Given the description of an element on the screen output the (x, y) to click on. 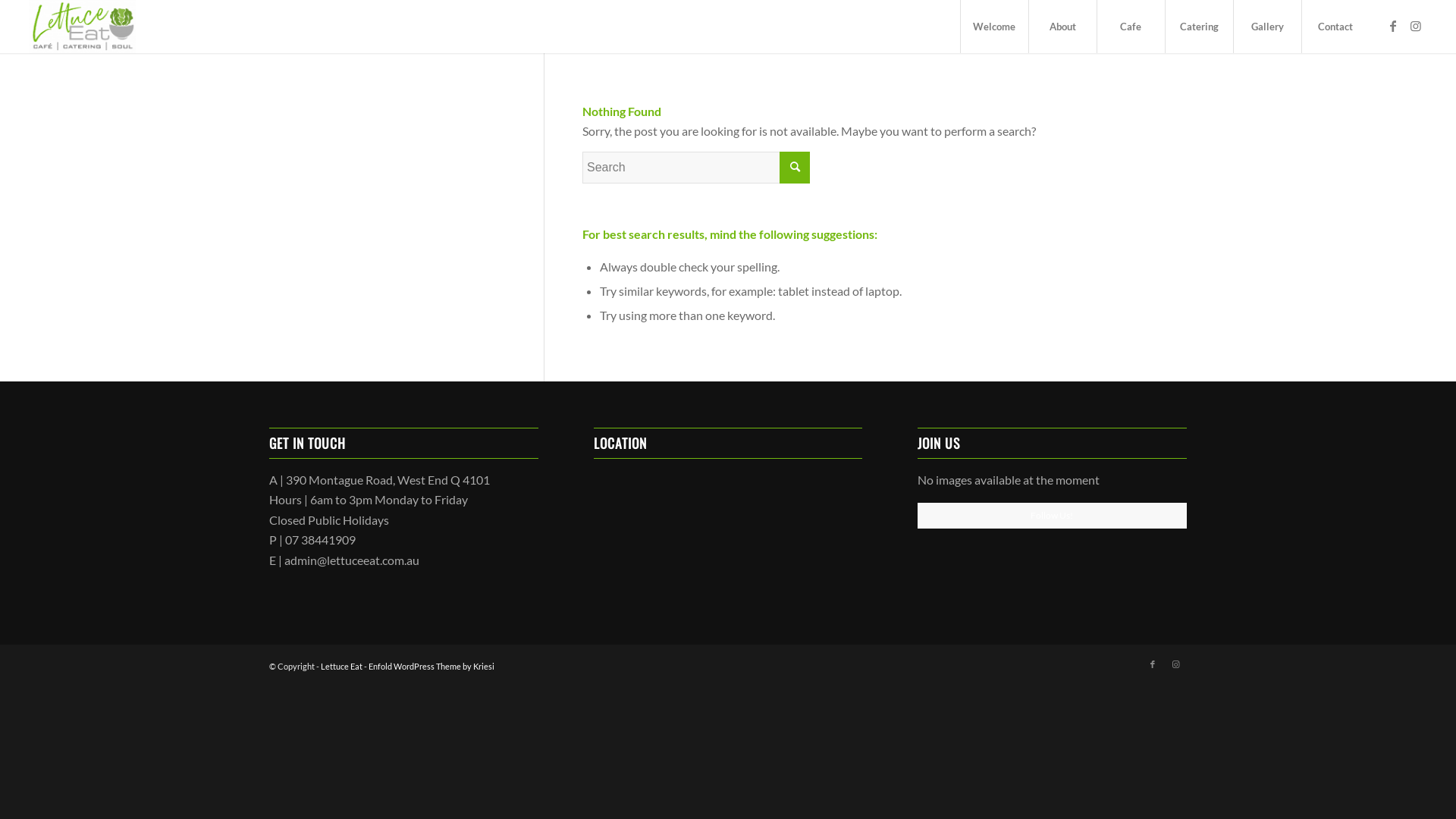
About Element type: text (1062, 26)
Welcome Element type: text (994, 26)
Cafe Element type: text (1130, 26)
Facebook Element type: hover (1392, 25)
Contact Element type: text (1335, 26)
Follow Us! Element type: text (1051, 515)
Instagram Element type: hover (1415, 25)
Lettuce Eat Element type: text (341, 666)
Enfold WordPress Theme by Kriesi Element type: text (431, 666)
Facebook Element type: hover (1152, 663)
Instagram Element type: hover (1175, 663)
Gallery Element type: text (1267, 26)
Catering Element type: text (1198, 26)
